Given the description of an element on the screen output the (x, y) to click on. 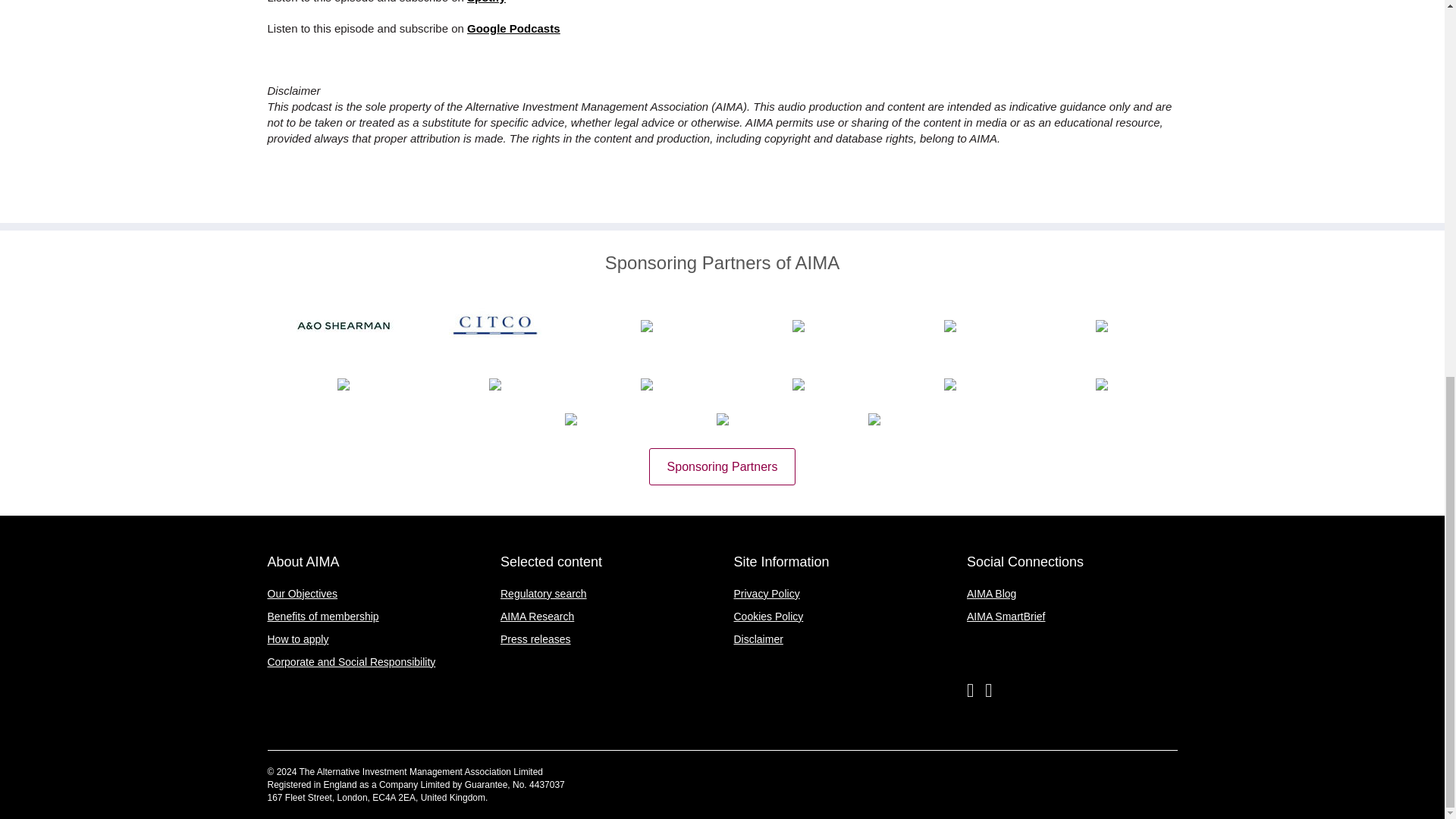
Press releases (535, 639)
AIMA Research (536, 616)
AIMA SmartBrief (1005, 616)
Corporate and Social Responsibility (350, 662)
Regulatory search (543, 593)
AIMA Blog (991, 593)
Privacy Policy (766, 593)
How to apply (297, 639)
Disclaimer (758, 639)
Benefits of membership (322, 616)
